Given the description of an element on the screen output the (x, y) to click on. 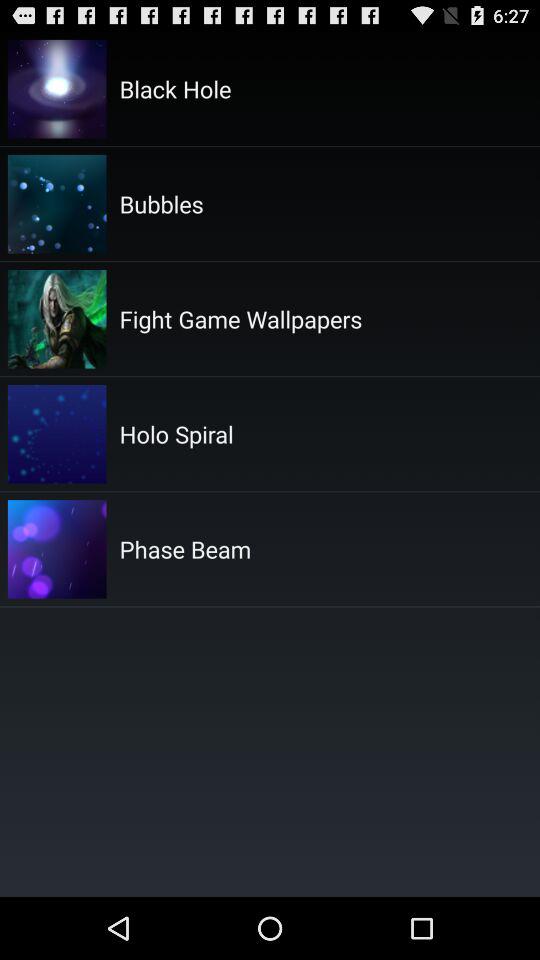
turn on phase beam icon (185, 549)
